Given the description of an element on the screen output the (x, y) to click on. 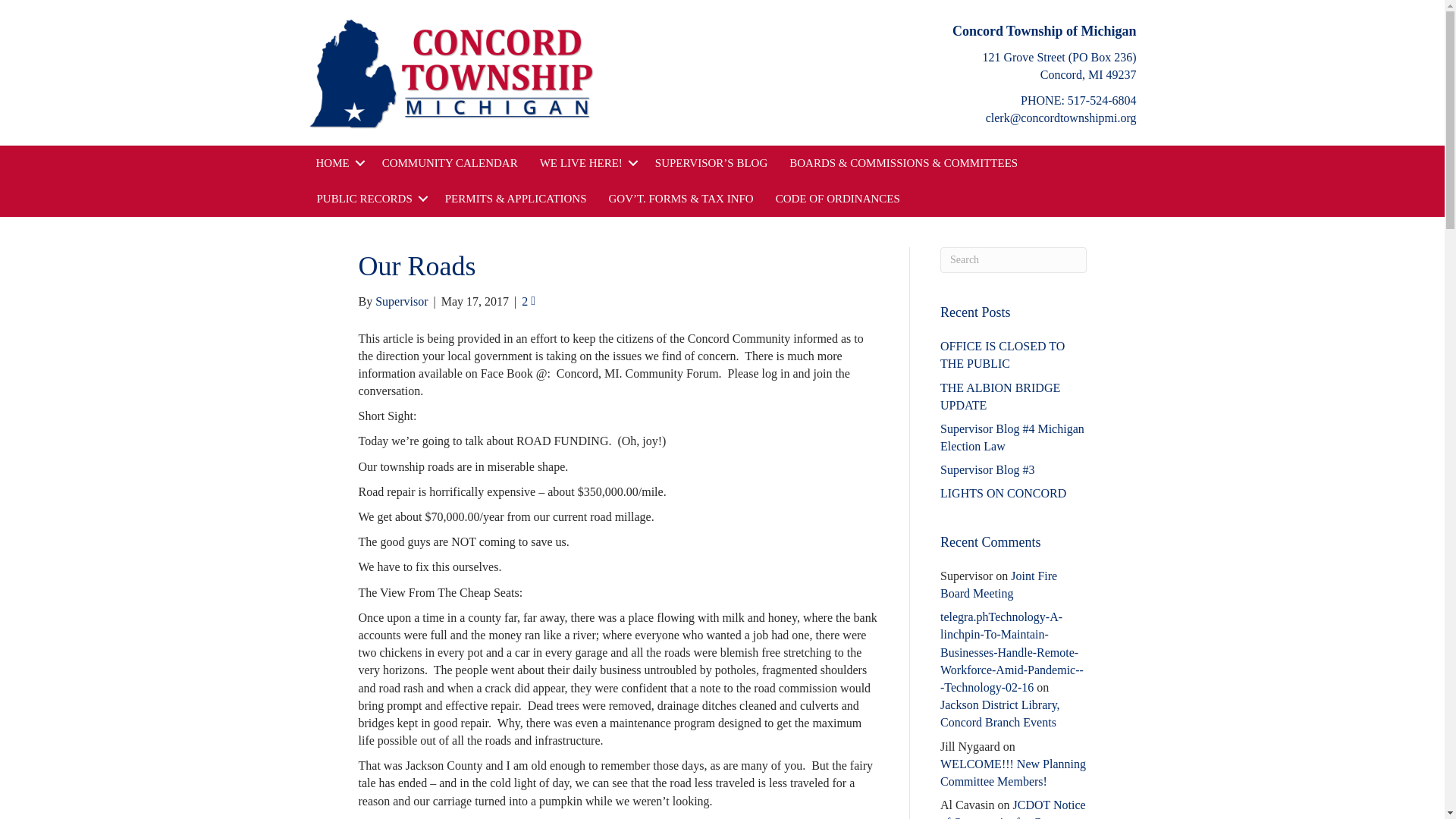
HOME (336, 162)
PUBLIC RECORDS (369, 198)
CODE OF ORDINANCES (838, 198)
2 (528, 300)
WE LIVE HERE! (586, 162)
Type and press Enter to search. (1013, 259)
Supervisor (401, 300)
COMMUNITY CALENDAR (449, 162)
logo (450, 74)
